Given the description of an element on the screen output the (x, y) to click on. 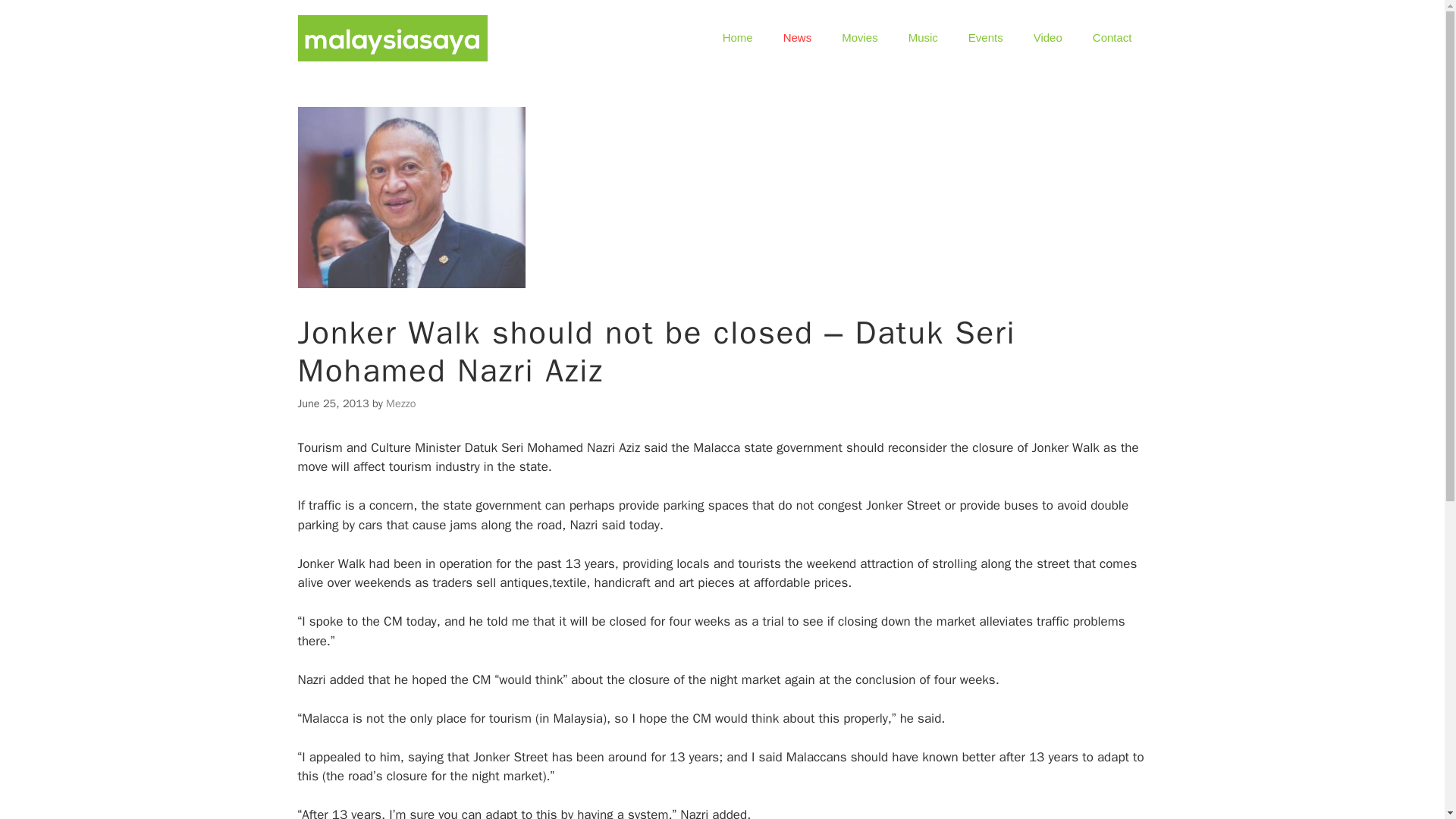
Video (1047, 37)
Contact (1112, 37)
Mezzo (400, 403)
News (797, 37)
Music (923, 37)
Home (737, 37)
Events (985, 37)
Movies (860, 37)
View all posts by Mezzo (400, 403)
Malaysiasaya TV (1047, 37)
